Given the description of an element on the screen output the (x, y) to click on. 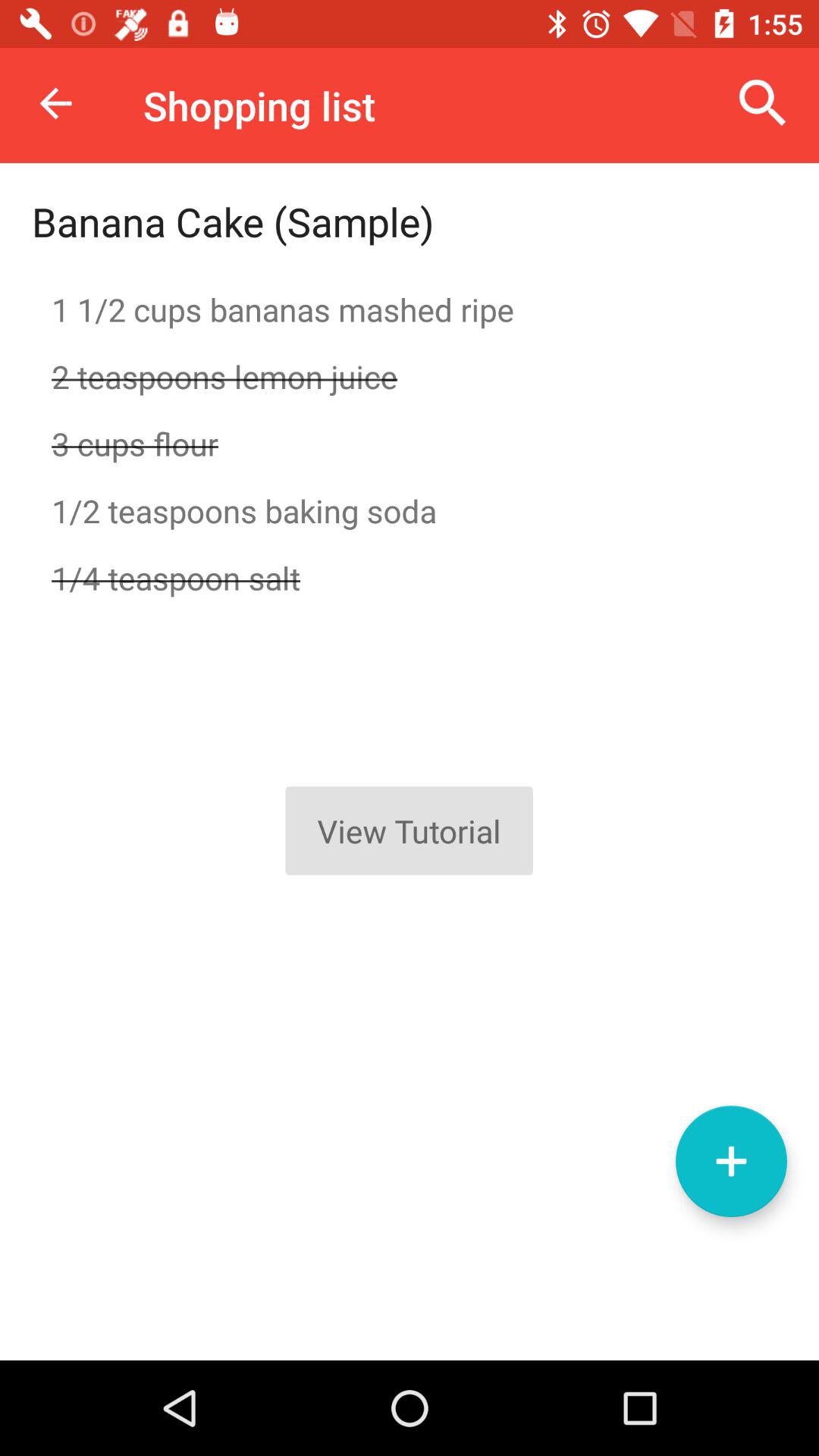
turn on the icon above banana cake (sample) (55, 103)
